Given the description of an element on the screen output the (x, y) to click on. 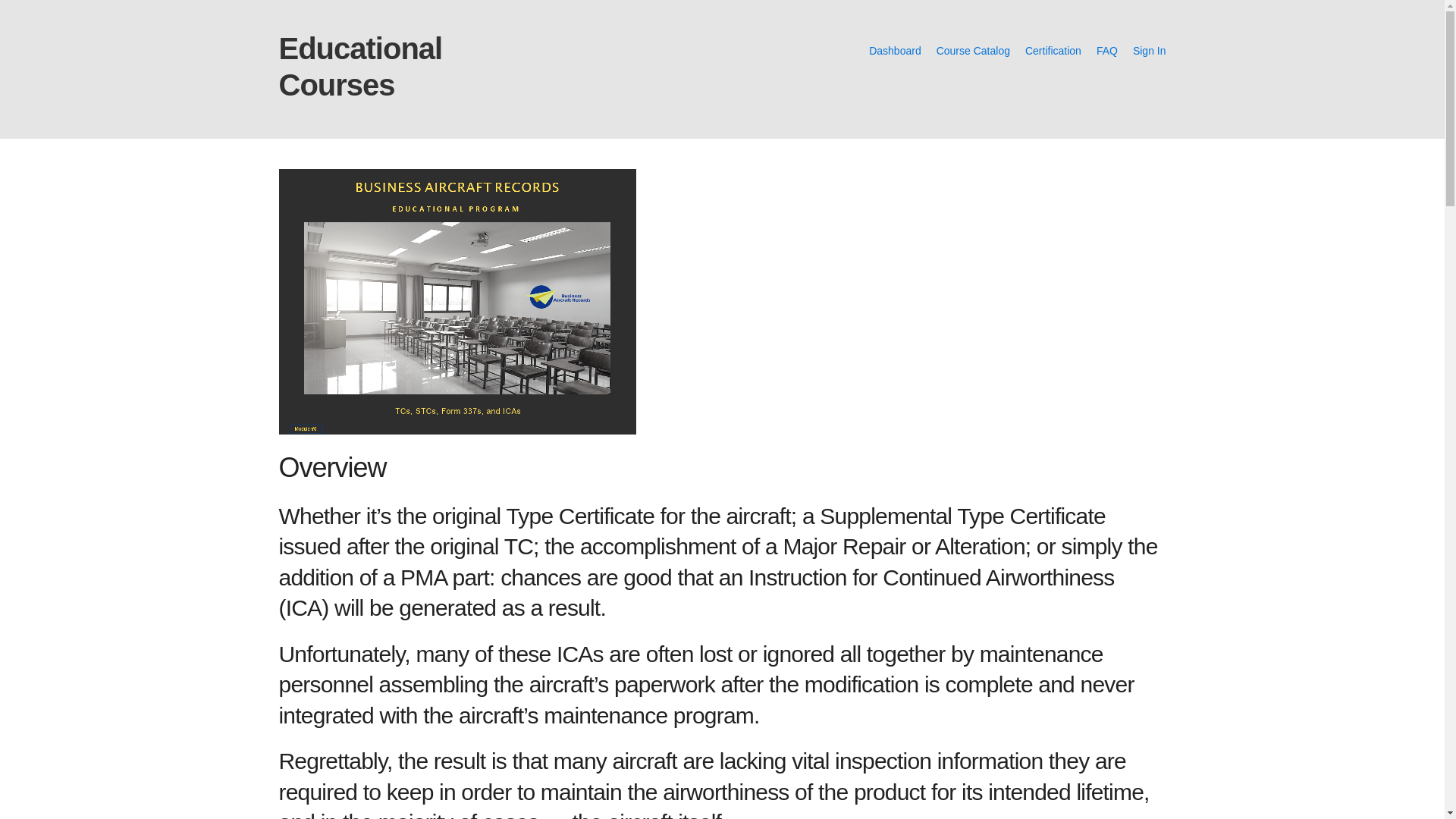
Sign In (1149, 50)
FAQ (1107, 50)
Educational Courses (360, 66)
Certification (1053, 50)
Course Catalog (973, 50)
Dashboard (895, 50)
